Given the description of an element on the screen output the (x, y) to click on. 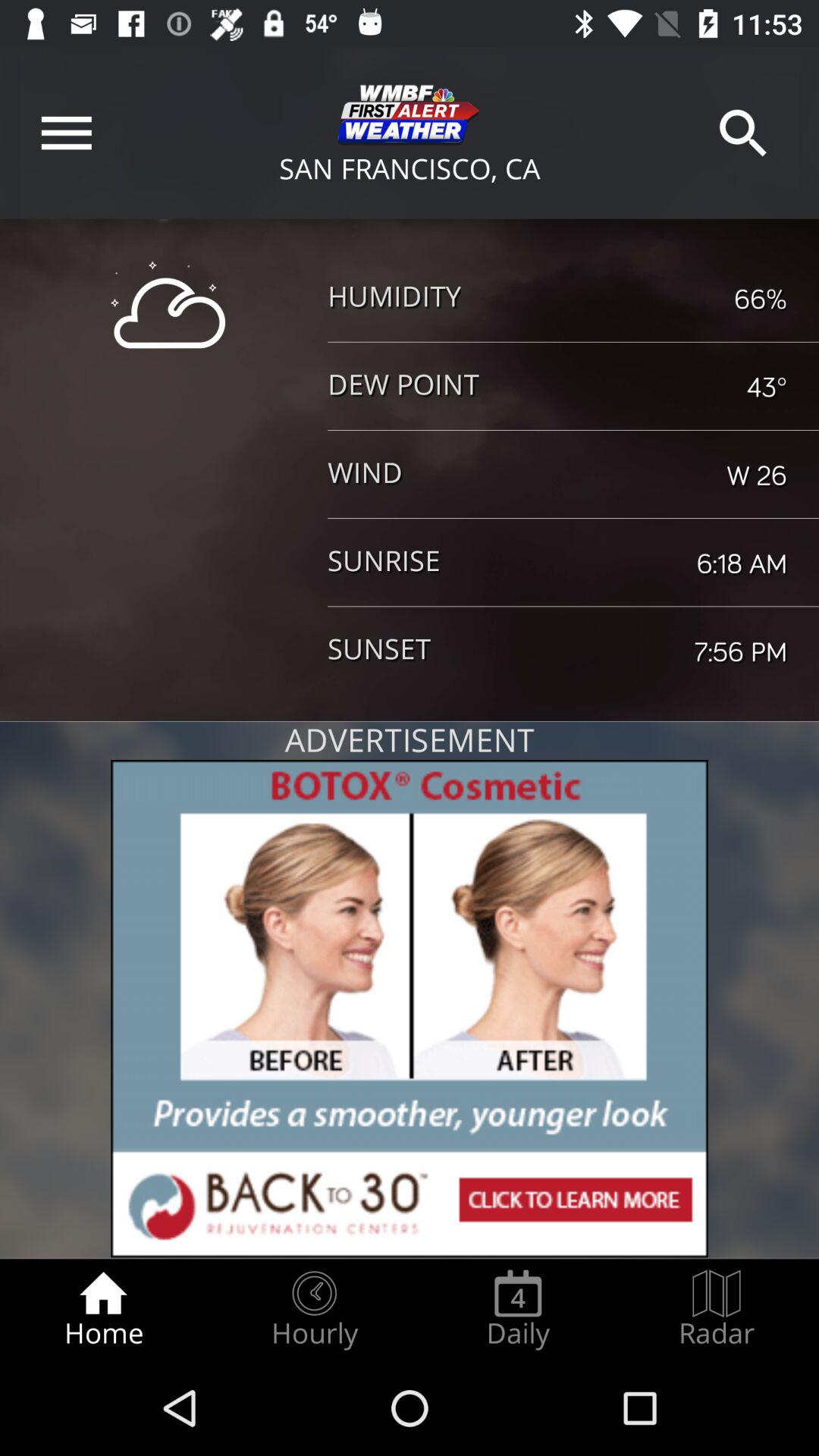
open item next to the hourly item (103, 1309)
